Given the description of an element on the screen output the (x, y) to click on. 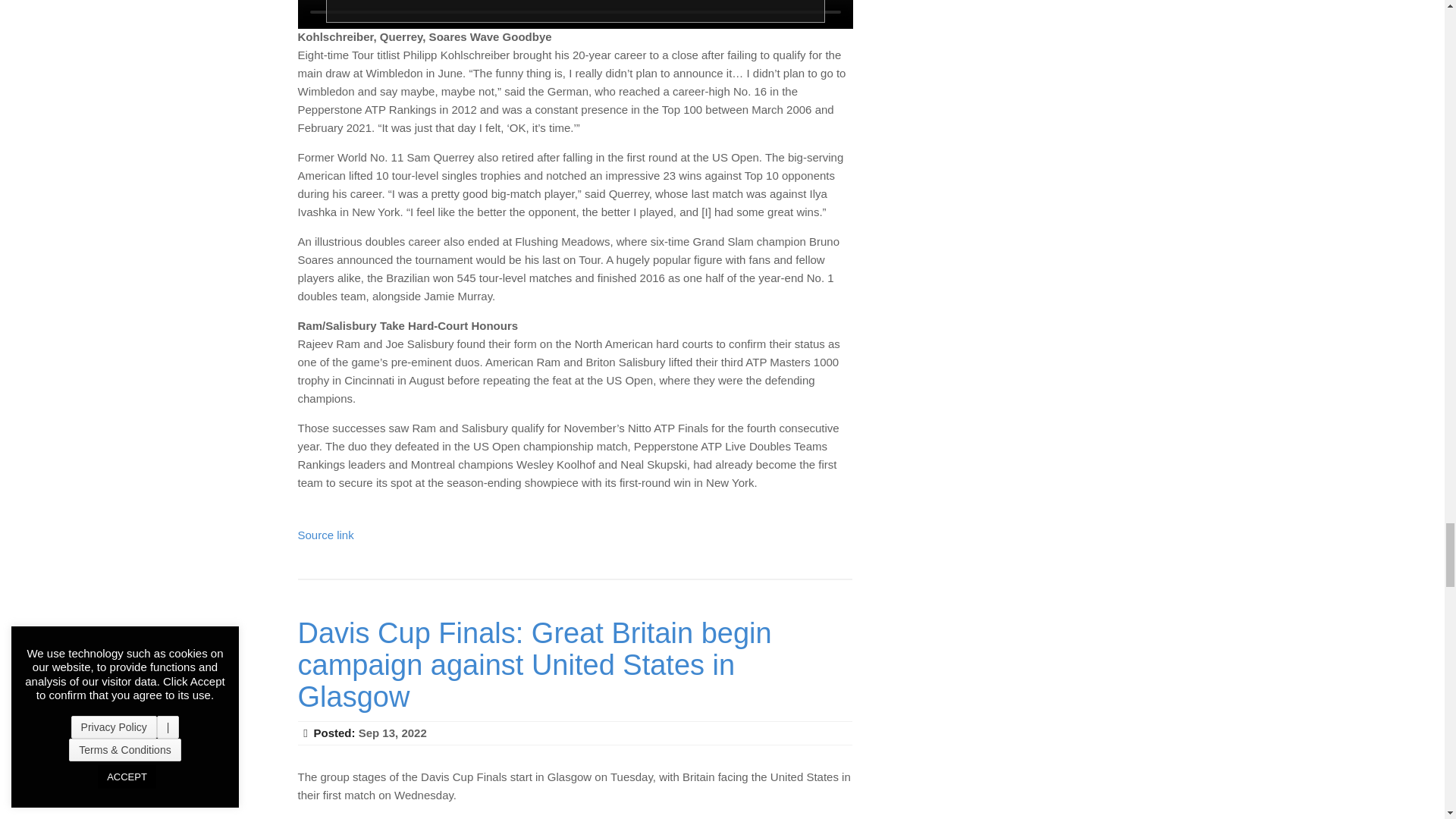
Source link (325, 818)
Source link (325, 534)
